Given the description of an element on the screen output the (x, y) to click on. 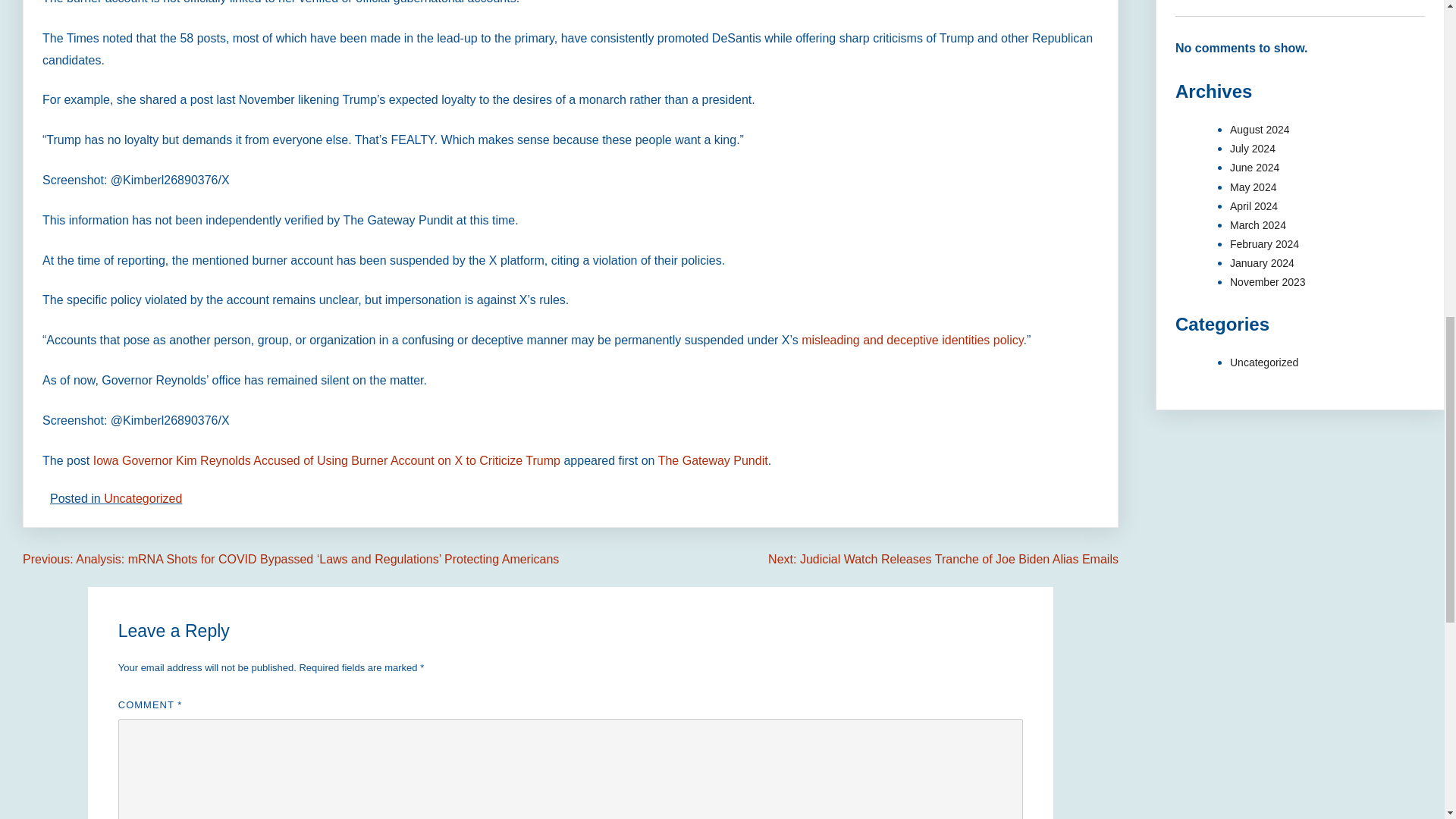
April 2024 (1254, 205)
Uncategorized (1264, 362)
The Gateway Pundit (713, 460)
misleading and deceptive identities policy (912, 339)
July 2024 (1252, 148)
Uncategorized (142, 498)
March 2024 (1257, 224)
May 2024 (1253, 186)
November 2023 (1268, 282)
February 2024 (1264, 244)
